Given the description of an element on the screen output the (x, y) to click on. 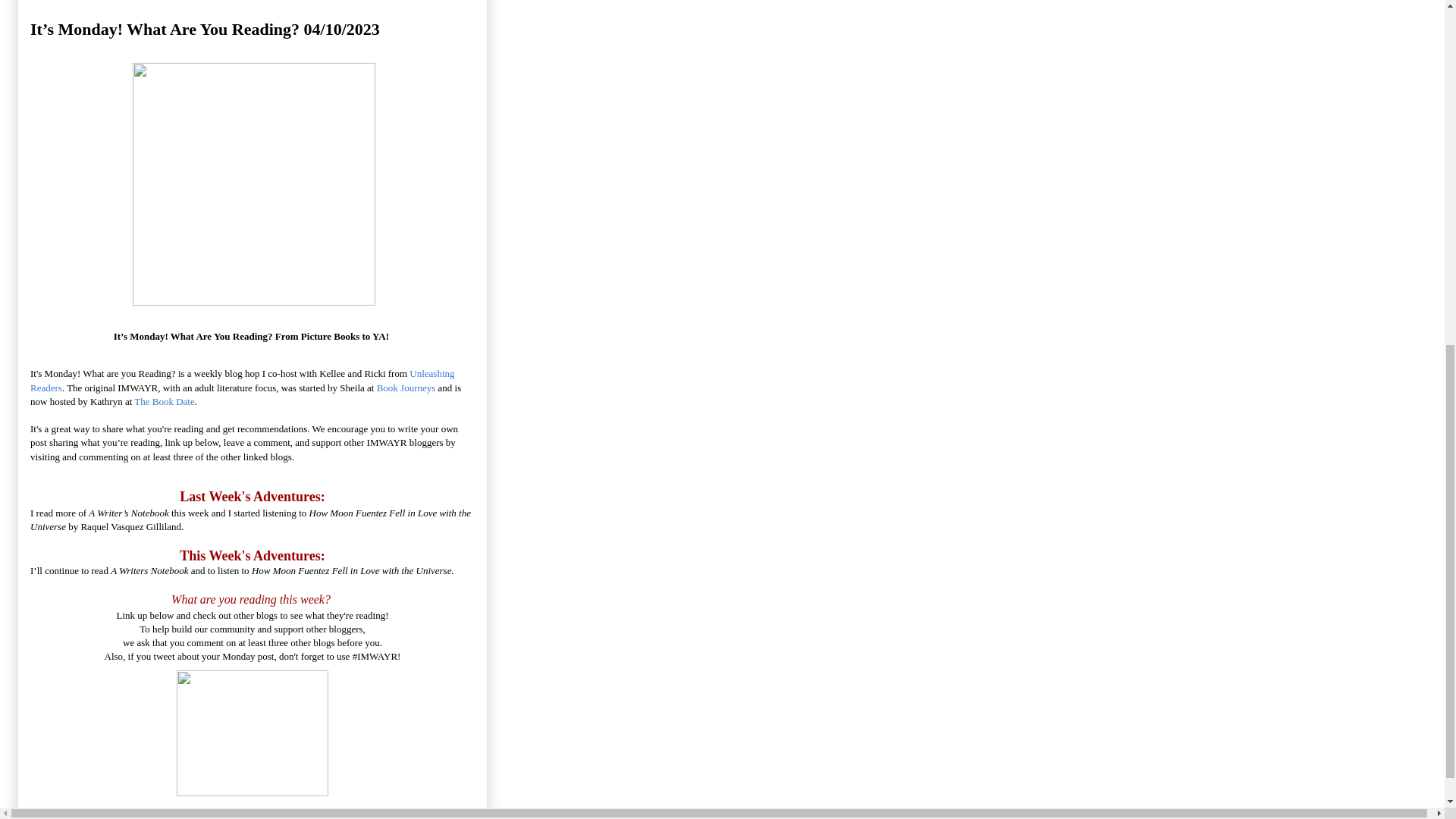
Unleashing Readers (242, 380)
The Book Date (163, 401)
Book Journeys (406, 387)
